Given the description of an element on the screen output the (x, y) to click on. 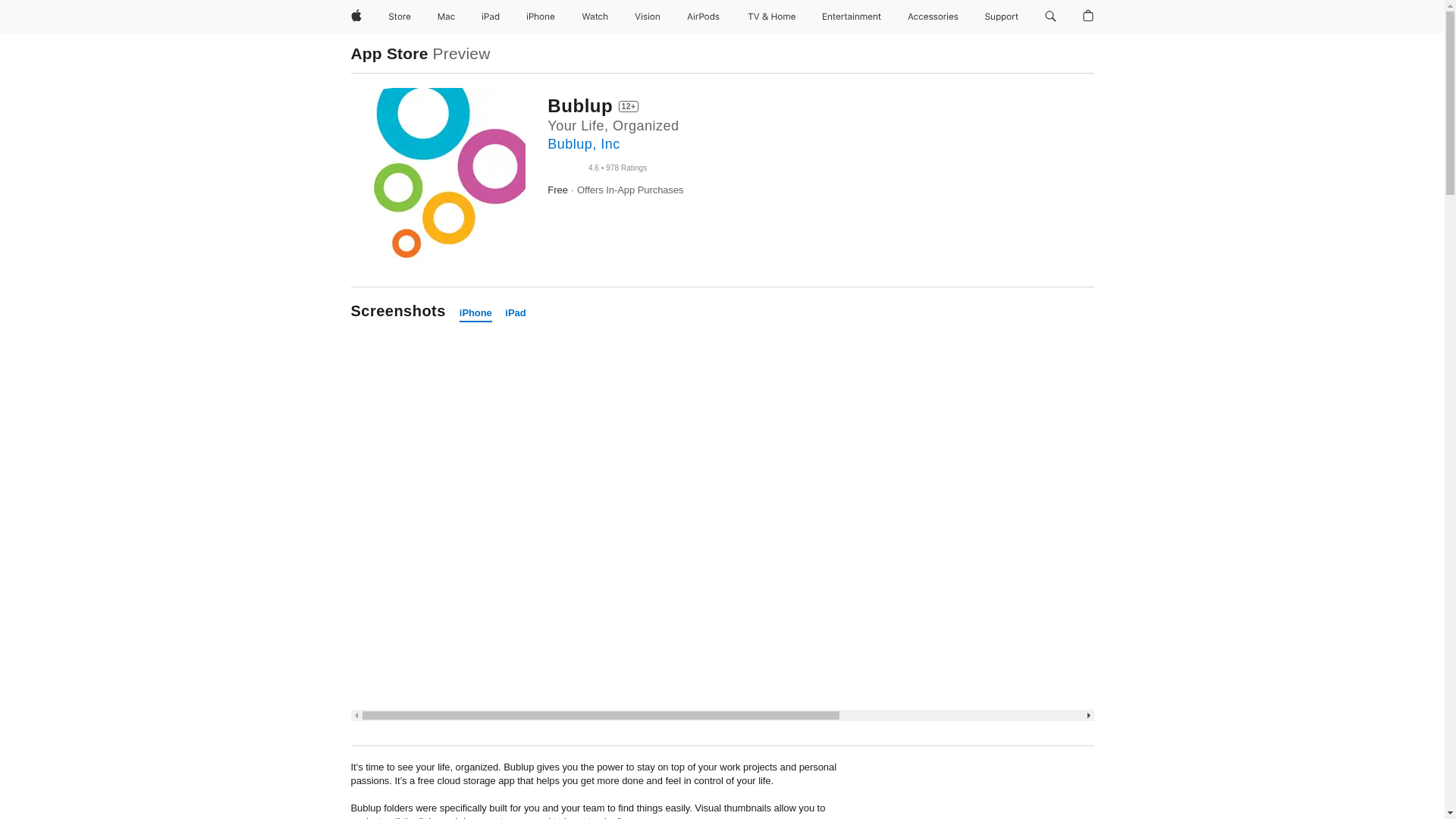
Vision (647, 16)
Bublup, Inc (583, 143)
Watch (594, 16)
iPhone (539, 16)
Apple (354, 16)
iPad (490, 16)
Accessories (932, 16)
iPad (515, 313)
AirPods (703, 16)
Store (398, 16)
Entertainment (851, 16)
iPhone (476, 313)
Support (1001, 16)
Mac (445, 16)
App Store (389, 53)
